Given the description of an element on the screen output the (x, y) to click on. 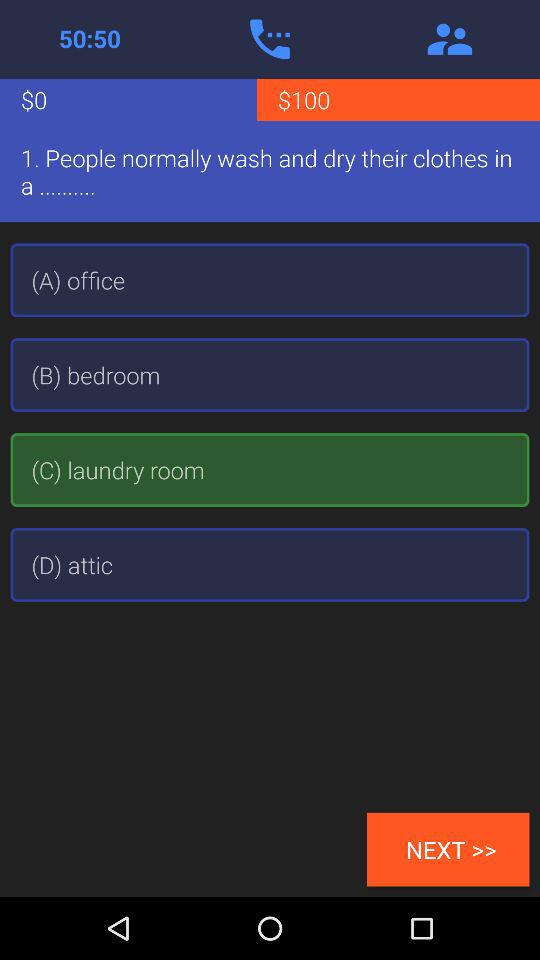
tap the (c) laundry room icon (269, 469)
